Given the description of an element on the screen output the (x, y) to click on. 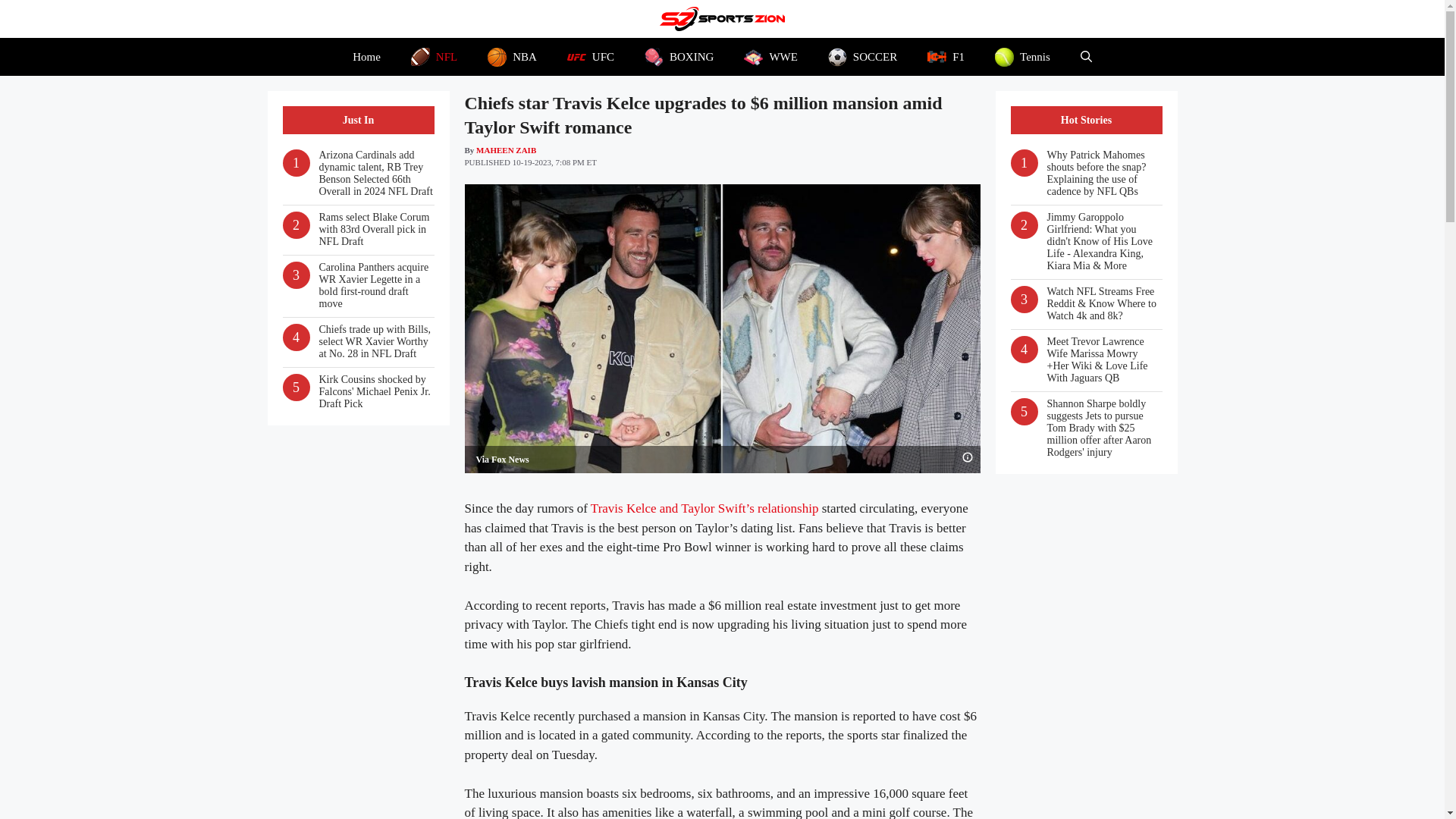
NFL (433, 56)
WWE (770, 56)
BOXING (678, 56)
Tennis (1022, 56)
UFC (589, 56)
MAHEEN ZAIB (505, 149)
F1 (945, 56)
